Given the description of an element on the screen output the (x, y) to click on. 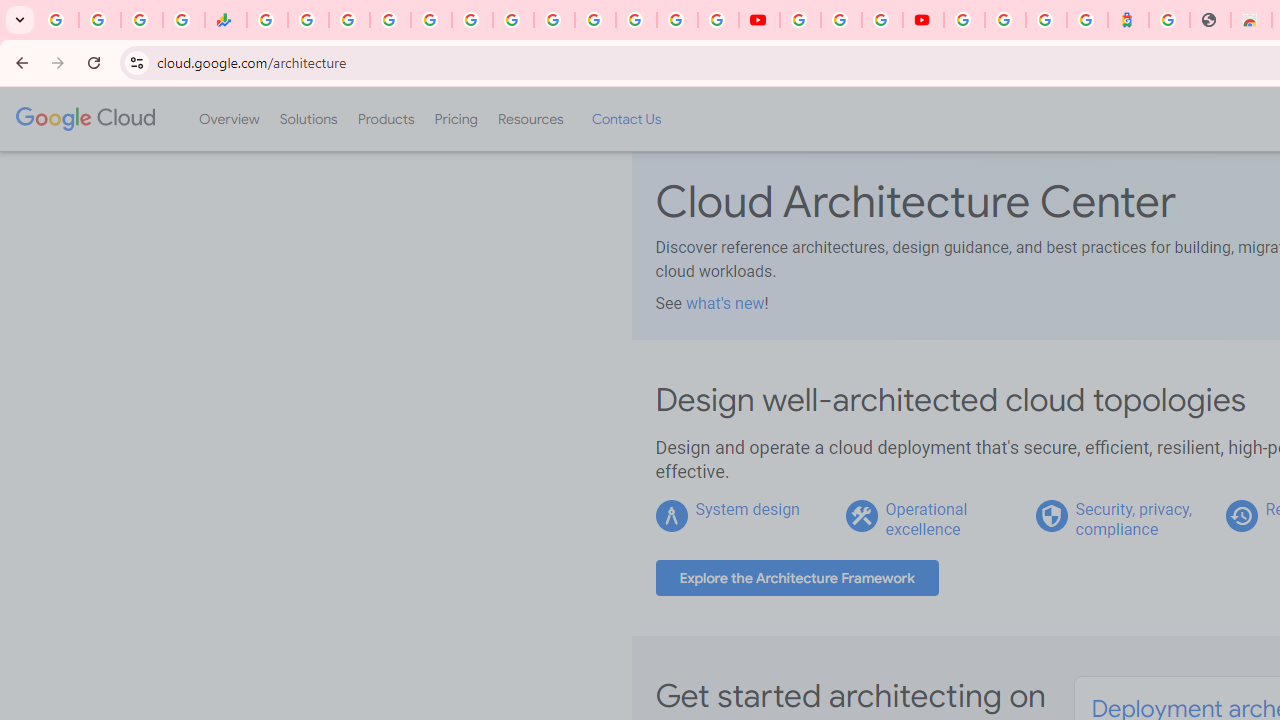
Overview (228, 119)
Android TV Policies and Guidelines - Transparency Center (512, 20)
Operational excellence (925, 519)
Security, privacy, compliance (1133, 519)
Google Workspace Admin Community (58, 20)
Sign in - Google Accounts (1005, 20)
Explore the Architecture Framework (797, 578)
YouTube (553, 20)
